Given the description of an element on the screen output the (x, y) to click on. 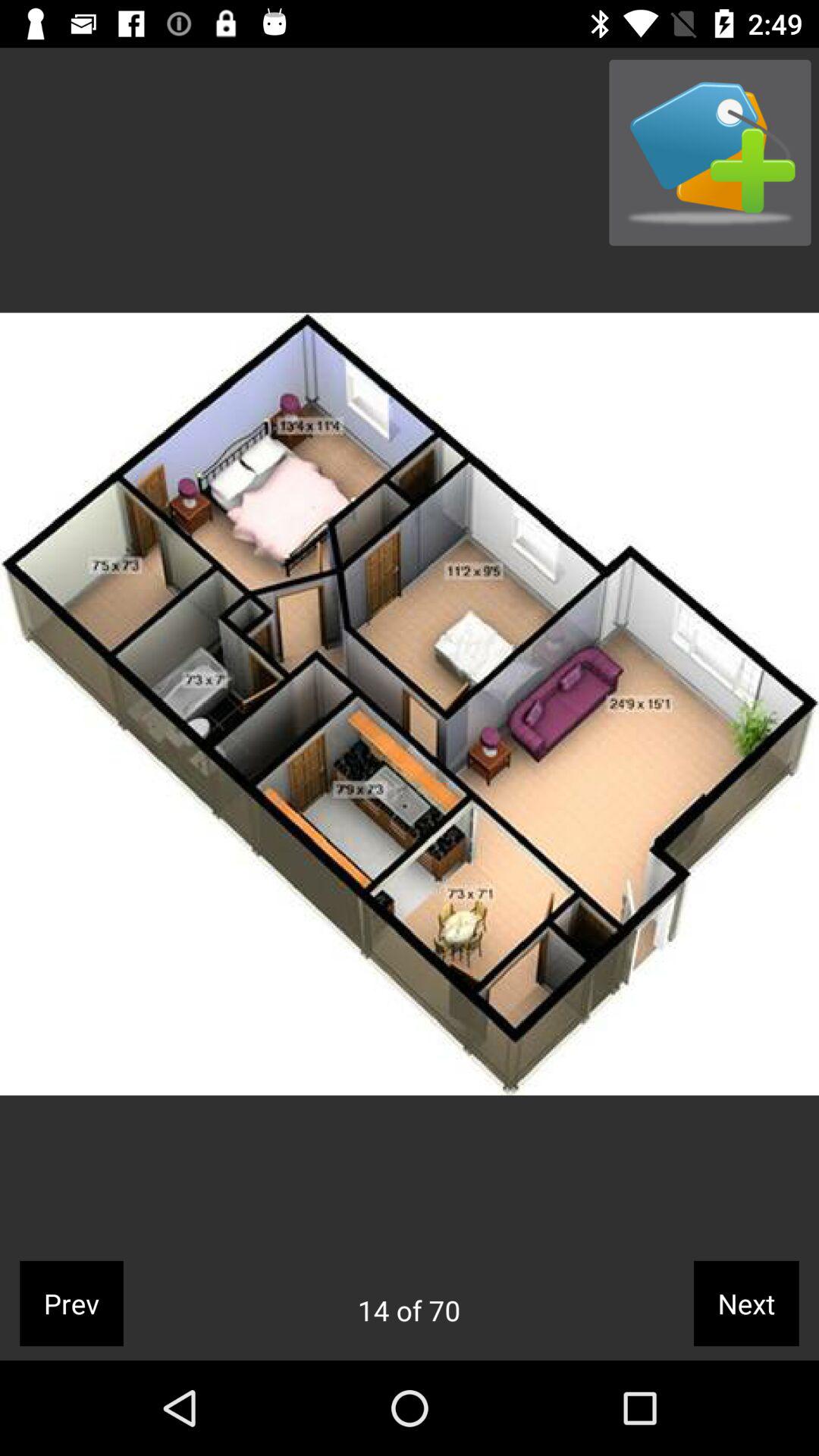
choose the 14 of 70 app (408, 1310)
